Given the description of an element on the screen output the (x, y) to click on. 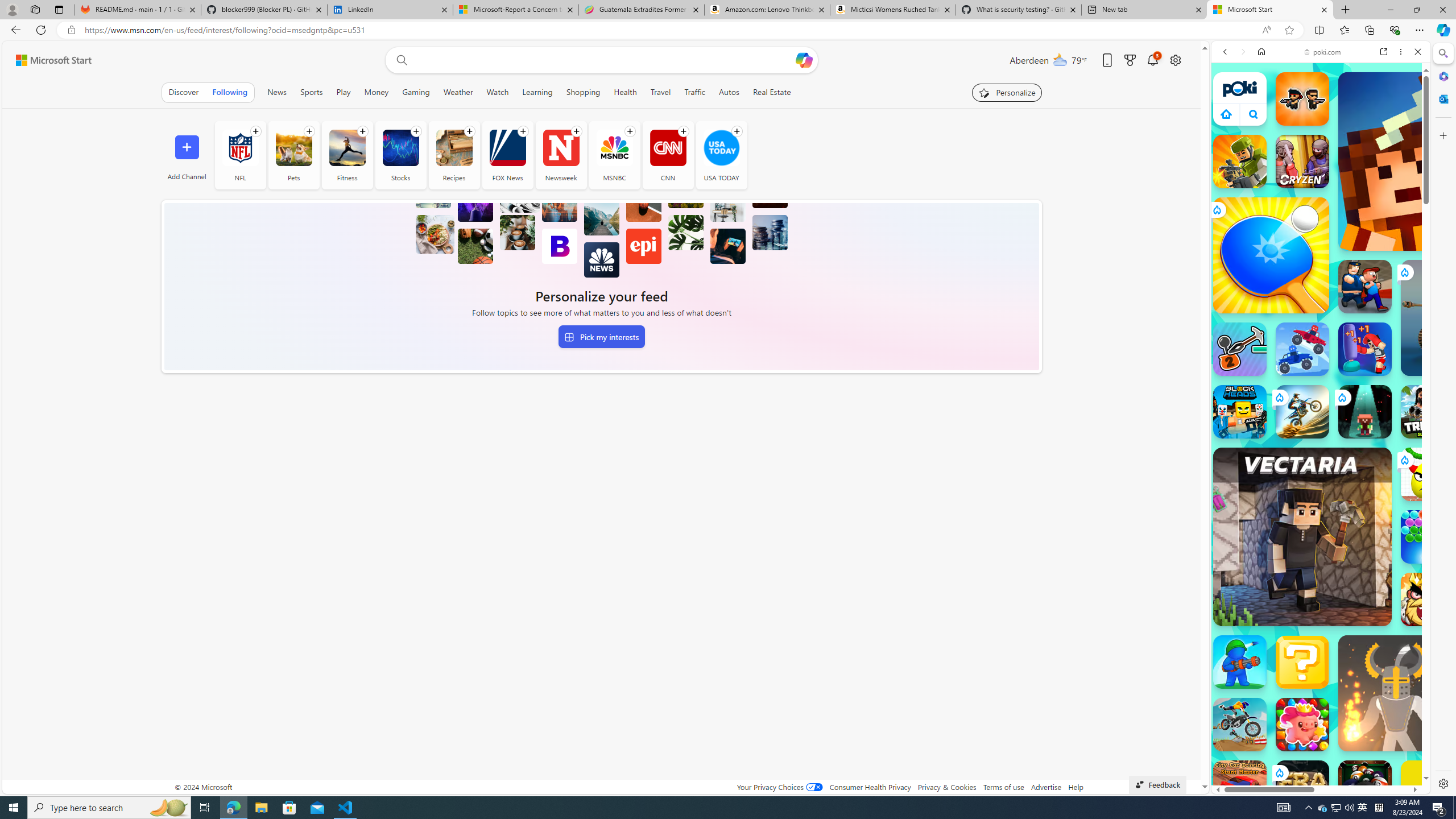
Show More Two Player Games (1390, 323)
LinkedIn (389, 9)
Quivershot Quivershot (1364, 411)
Vectaria.io (1301, 536)
Newsweek (561, 147)
8 Ball Pool With Buddies (1364, 787)
Battle Wheels (1302, 348)
Zombie Rush Zombie Rush (1302, 98)
NFL (240, 147)
Era: Evolution (1302, 787)
Io Games (1320, 351)
